Given the description of an element on the screen output the (x, y) to click on. 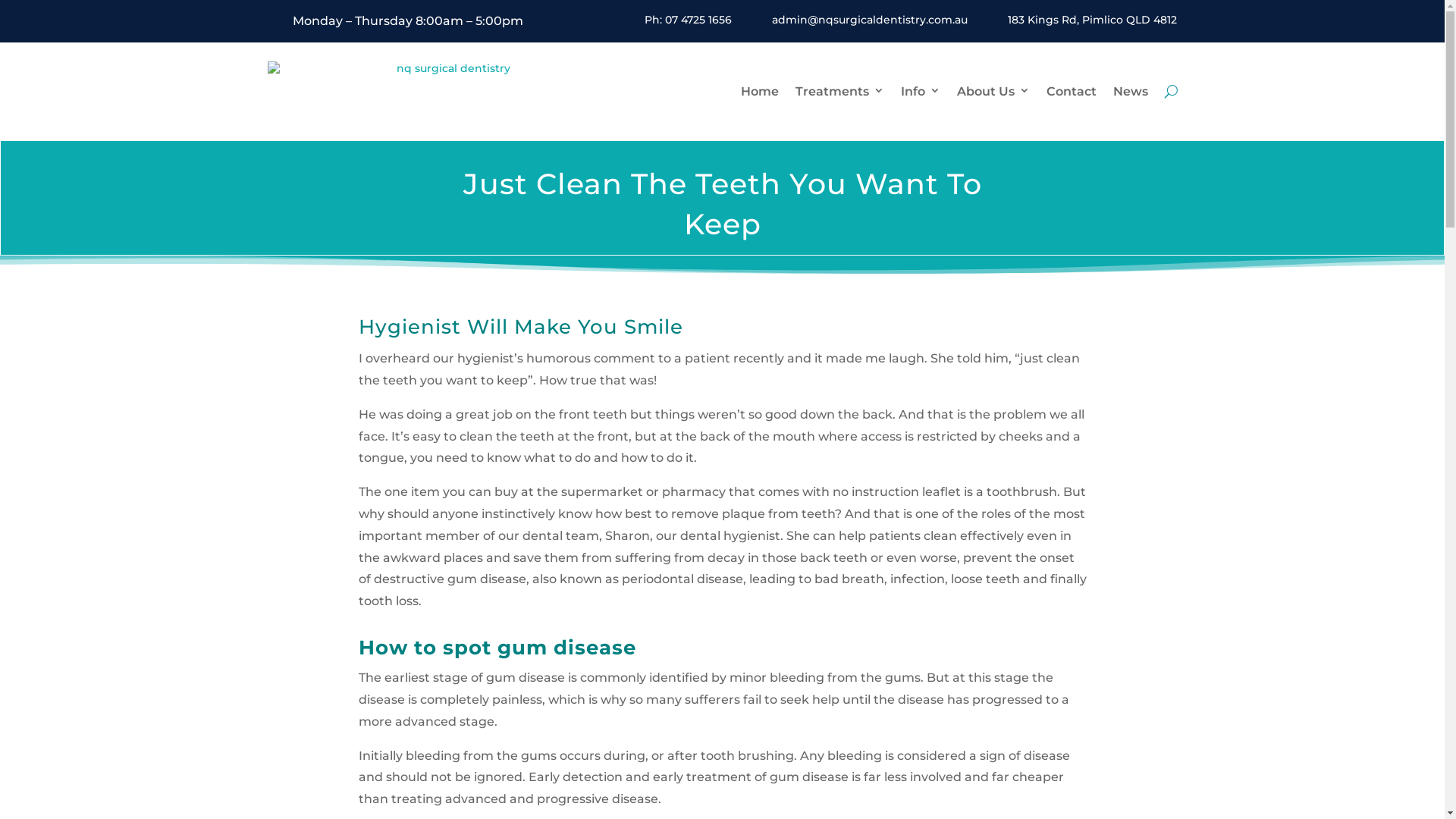
Home Element type: text (759, 91)
About Us Element type: text (993, 91)
Info Element type: text (920, 91)
Contact Element type: text (1071, 91)
News Element type: text (1130, 91)
Treatments Element type: text (838, 91)
